Given the description of an element on the screen output the (x, y) to click on. 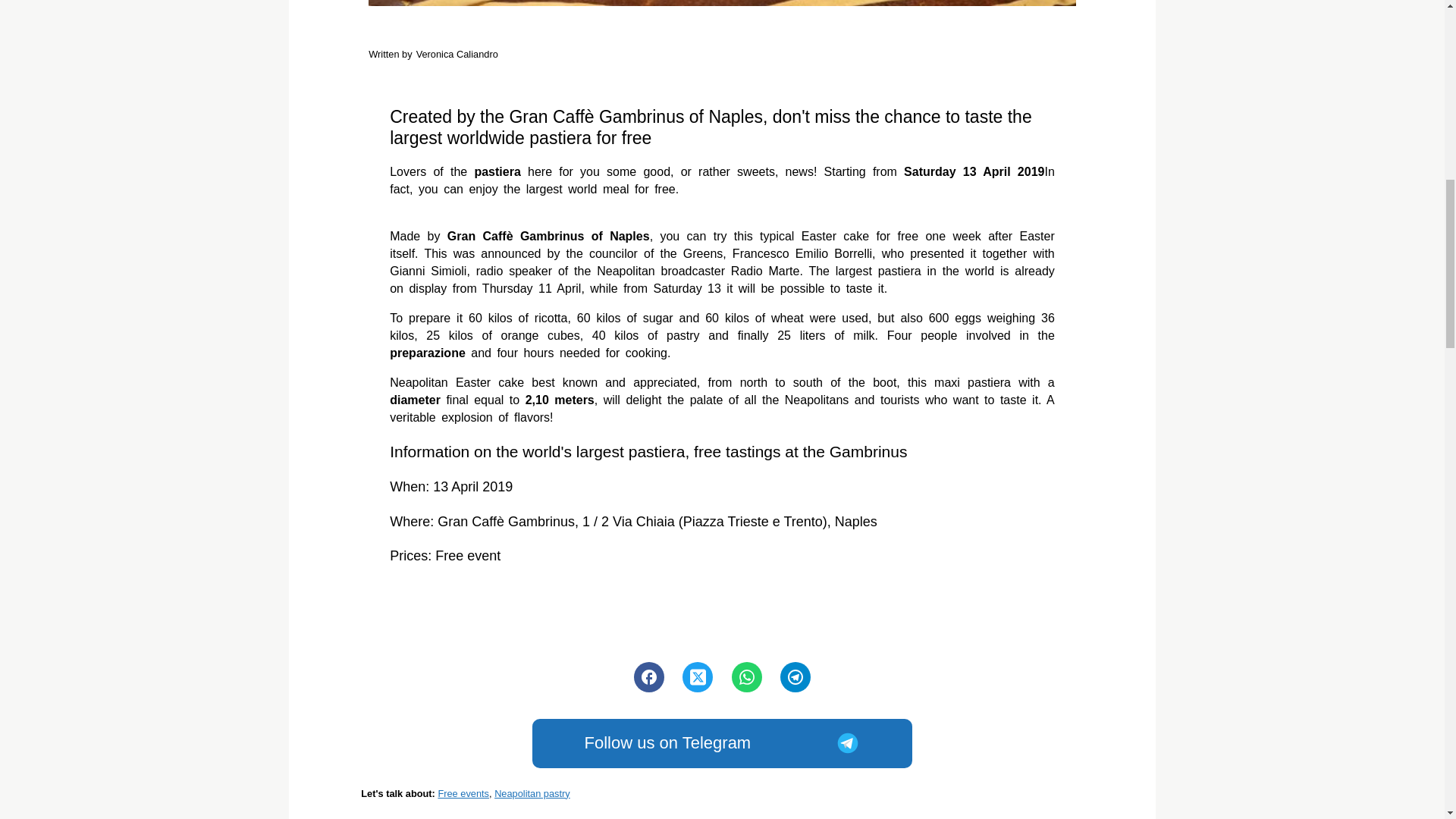
Follow us on Telegram (432, 54)
Neapolitan pastry (721, 743)
Free events (532, 793)
